Given the description of an element on the screen output the (x, y) to click on. 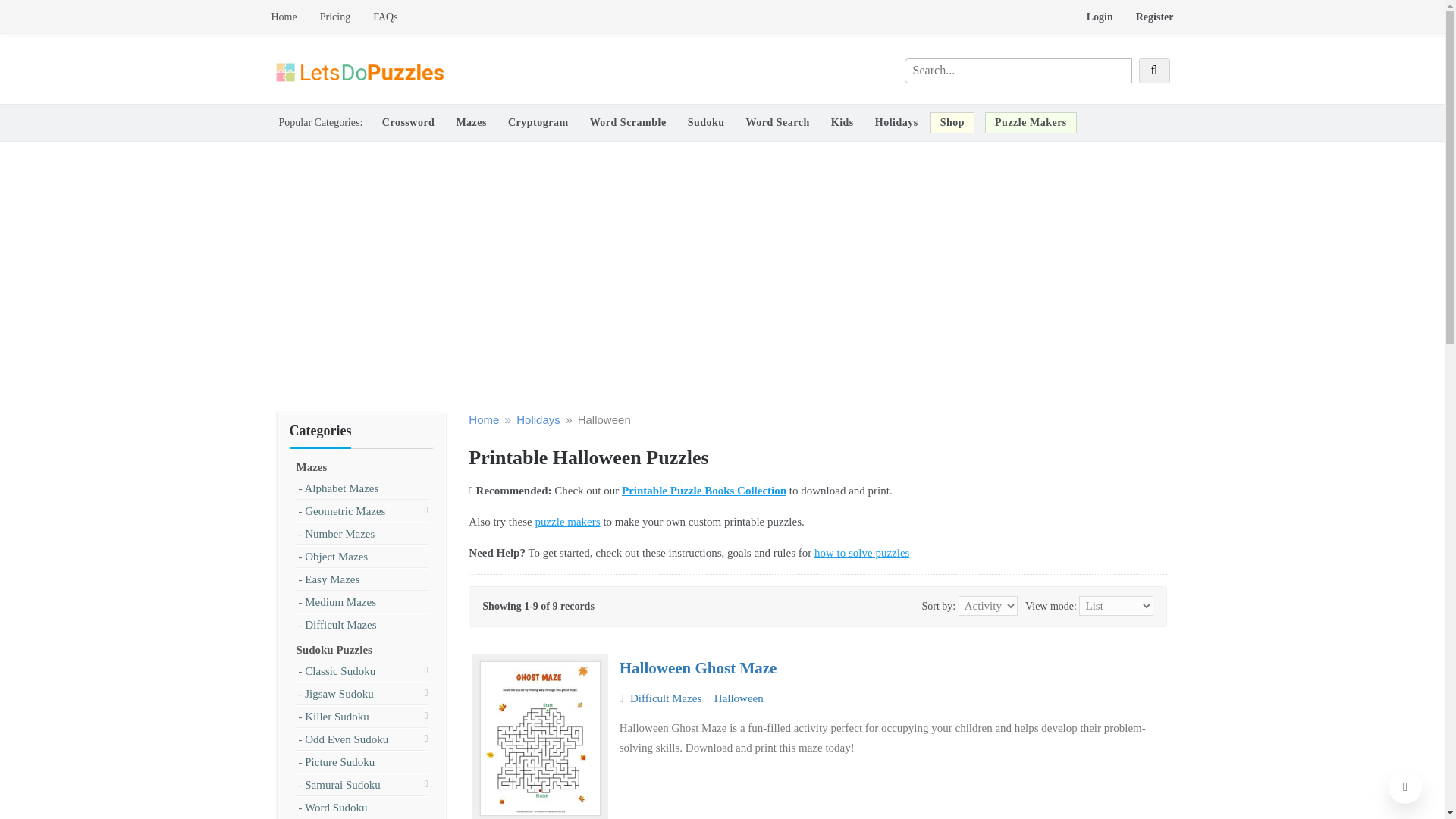
Shop (952, 122)
Word Scramble (627, 122)
Classic Sudoku (336, 671)
Sudoku (705, 122)
Odd Even Sudoku (343, 739)
Home (289, 17)
FAQs (379, 17)
Picture Sudoku (336, 762)
Crossword (408, 122)
Difficult Mazes (337, 624)
Sudoku Puzzles (333, 649)
Object Mazes (333, 556)
Mazes (310, 467)
Register (1148, 17)
Jigsaw Sudoku (336, 694)
